Given the description of an element on the screen output the (x, y) to click on. 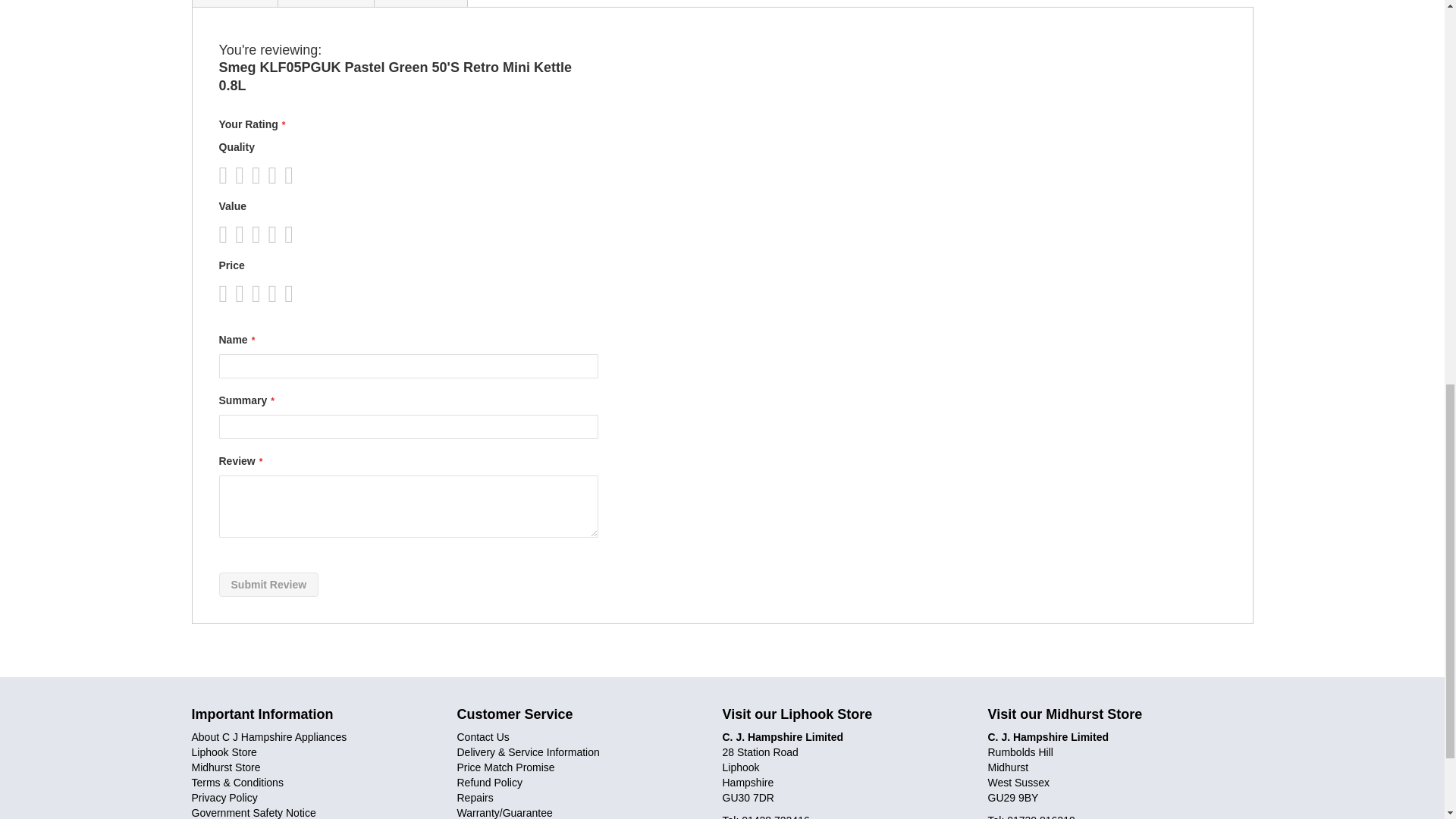
3 stars (242, 174)
4 stars (250, 174)
